Given the description of an element on the screen output the (x, y) to click on. 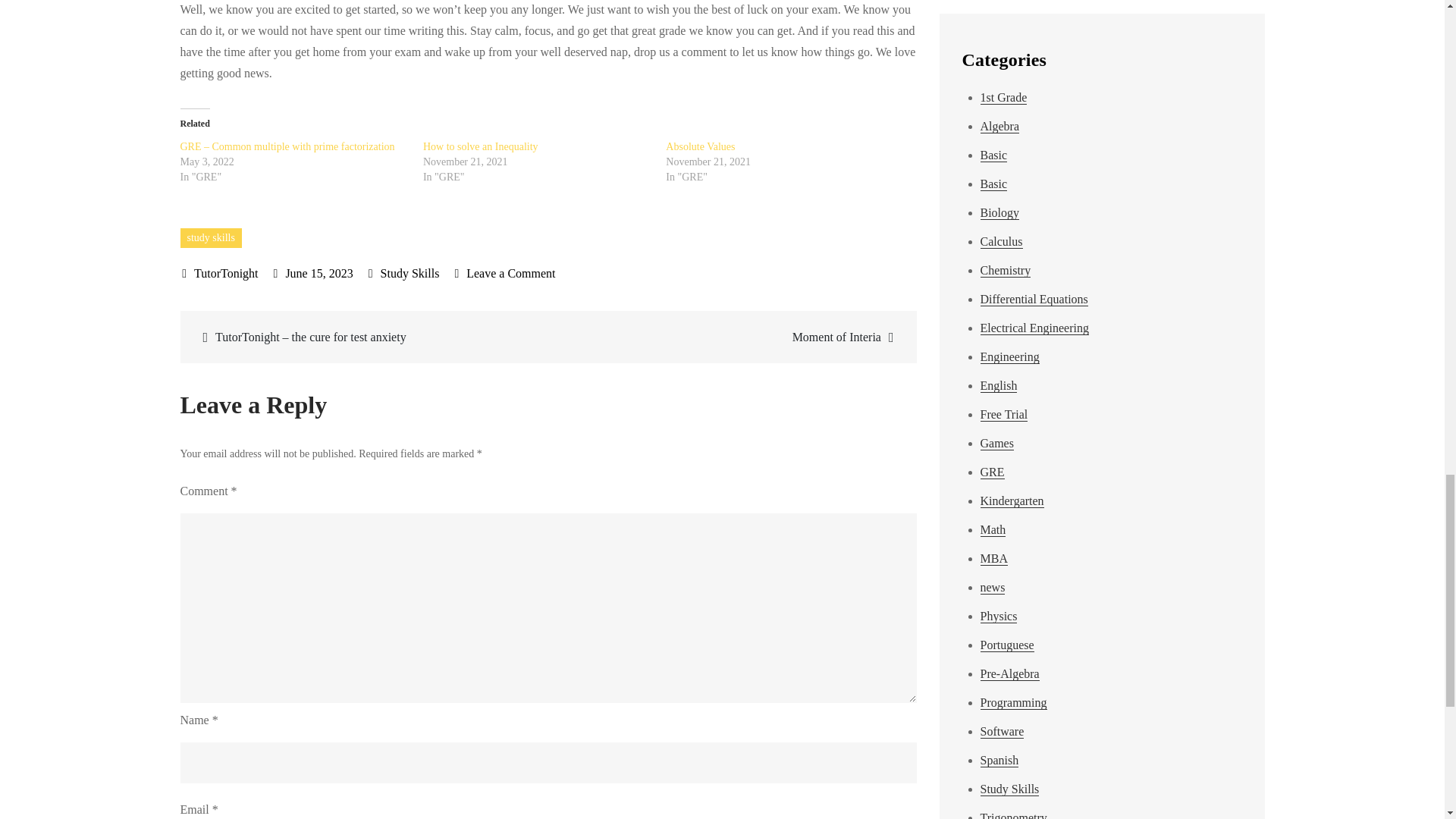
TutorTonight (219, 273)
How to solve an Inequality (504, 273)
June 15, 2023 (480, 146)
study skills (313, 273)
Moment of Interia (210, 238)
How to solve an Inequality (730, 336)
Absolute Values (480, 146)
Study Skills (700, 146)
Absolute Values (409, 273)
